Given the description of an element on the screen output the (x, y) to click on. 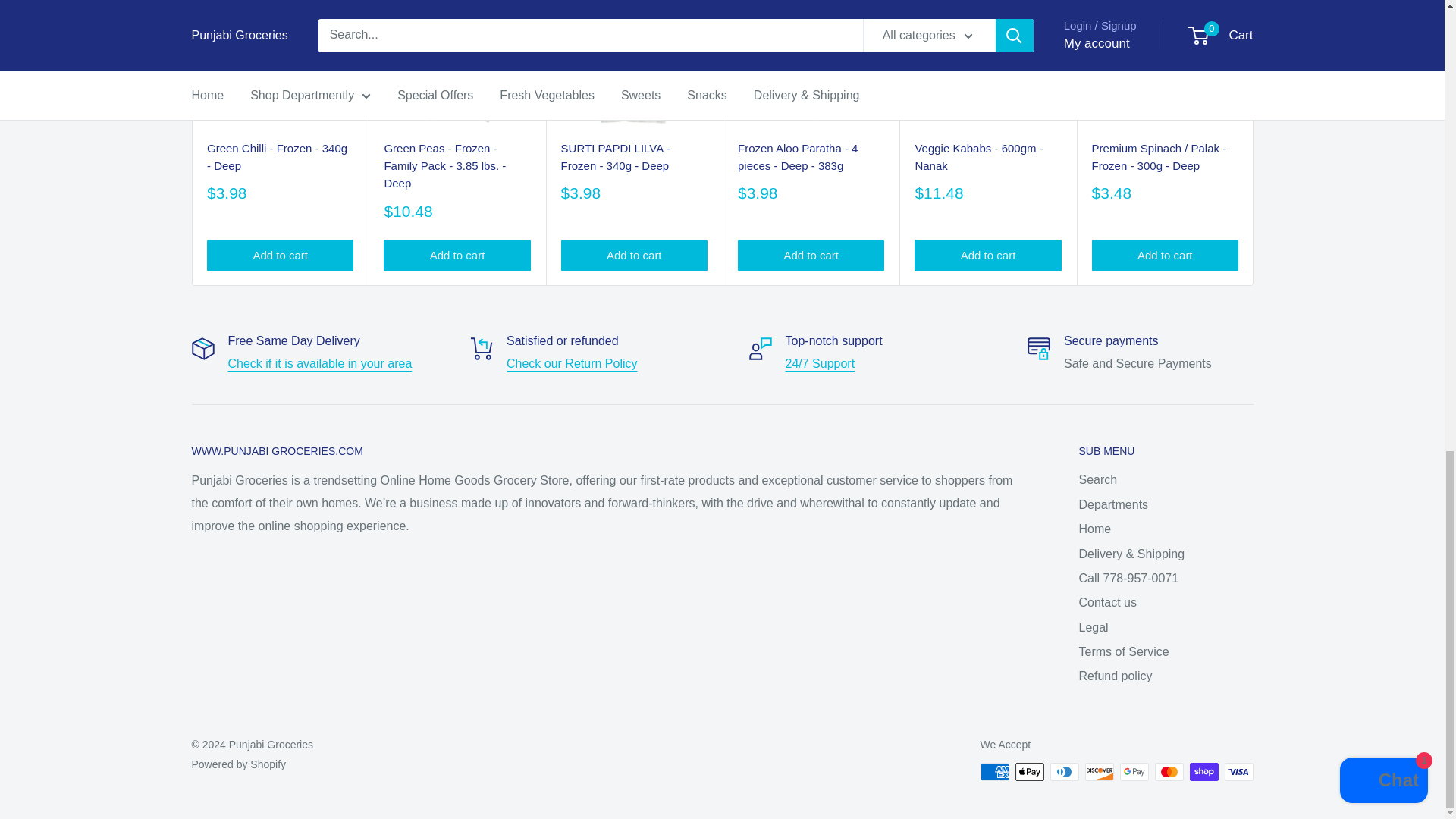
Contact us (821, 363)
Return Policy of Punjabi Groceries (571, 363)
